Given the description of an element on the screen output the (x, y) to click on. 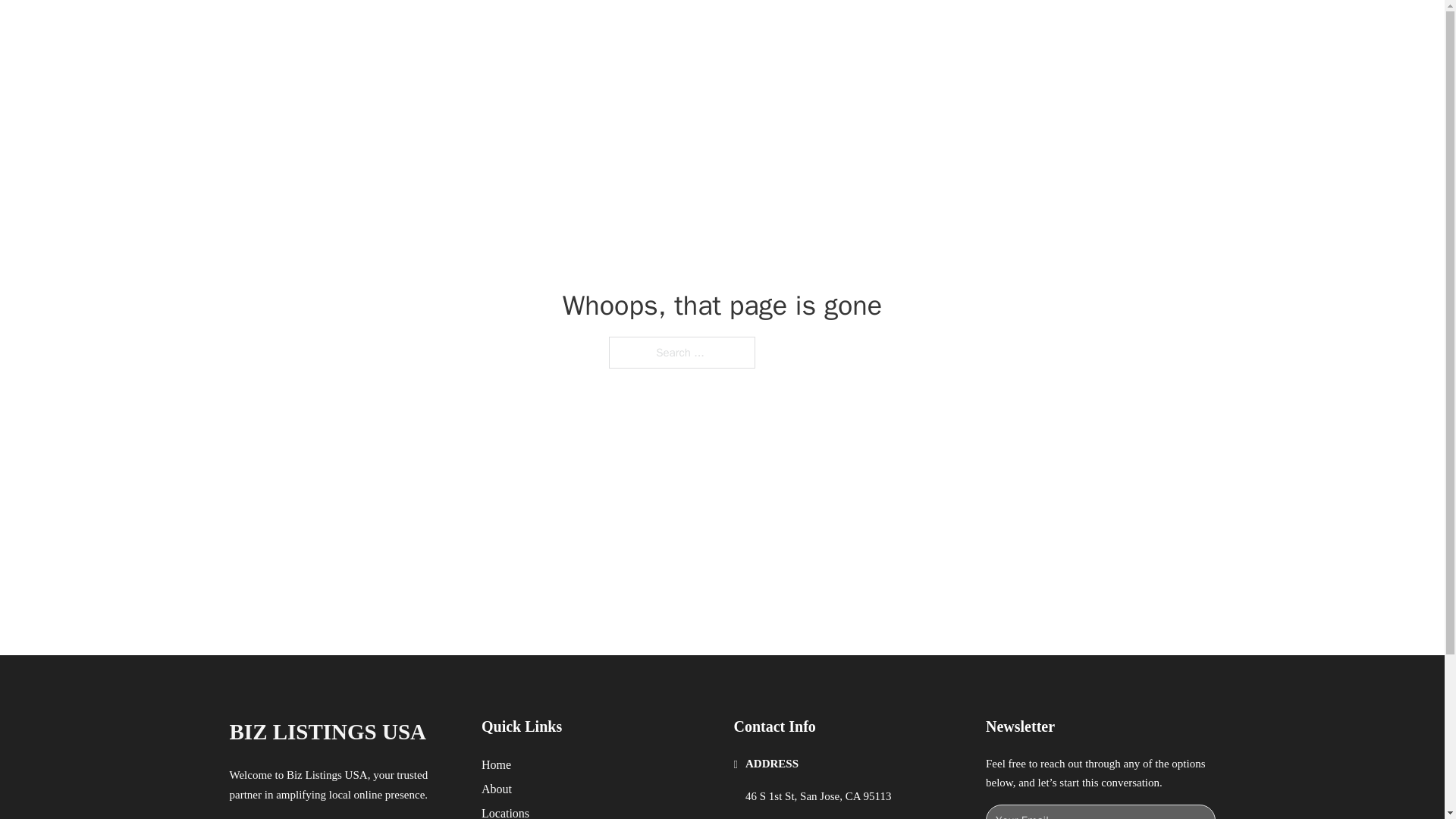
HOME (919, 29)
BIZ LISTINGS USA (400, 28)
LOCATIONS (990, 29)
BIZ LISTINGS USA (327, 732)
Locations (505, 811)
Home (496, 764)
About (496, 788)
